Given the description of an element on the screen output the (x, y) to click on. 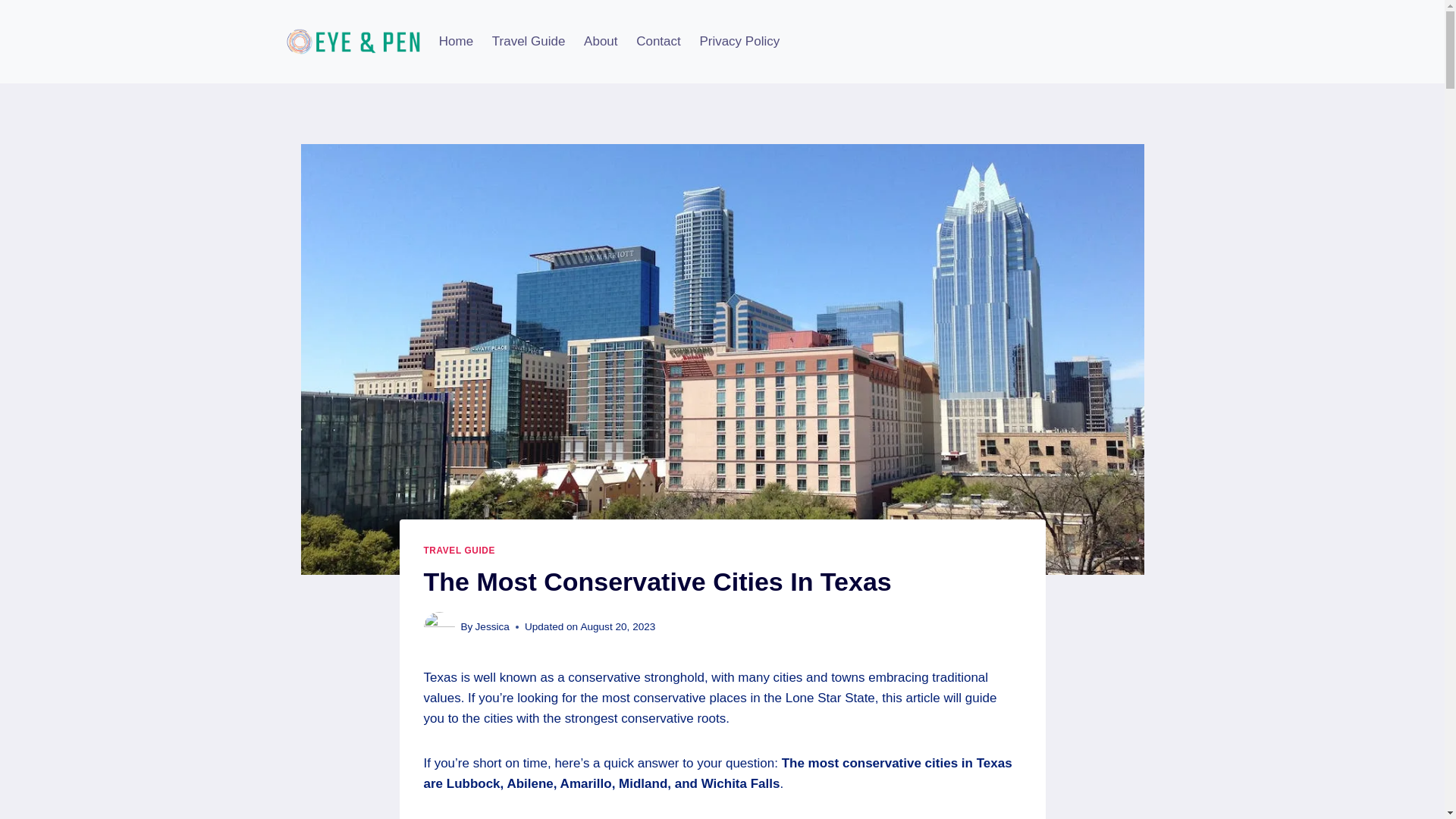
Travel Guide (527, 41)
About (601, 41)
Jessica (492, 626)
Contact (658, 41)
Privacy Policy (739, 41)
Home (455, 41)
TRAVEL GUIDE (459, 550)
